Given the description of an element on the screen output the (x, y) to click on. 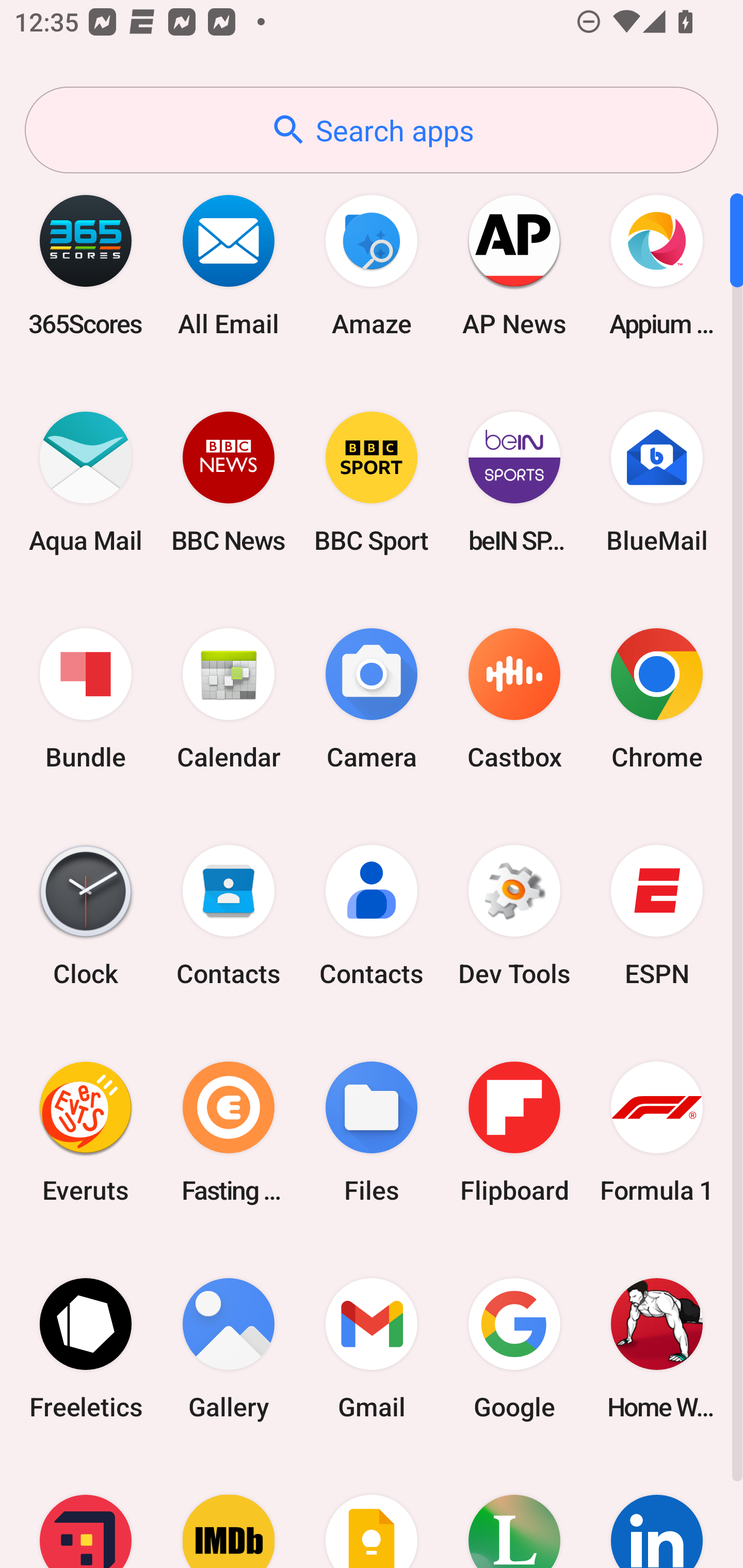
  Search apps (371, 130)
365Scores (85, 264)
All Email (228, 264)
Amaze (371, 264)
AP News (514, 264)
Appium Settings (656, 264)
Aqua Mail (85, 482)
BBC News (228, 482)
BBC Sport (371, 482)
beIN SPORTS (514, 482)
BlueMail (656, 482)
Bundle (85, 699)
Calendar (228, 699)
Camera (371, 699)
Castbox (514, 699)
Chrome (656, 699)
Clock (85, 915)
Contacts (228, 915)
Contacts (371, 915)
Dev Tools (514, 915)
ESPN (656, 915)
Everuts (85, 1131)
Fasting Coach (228, 1131)
Files (371, 1131)
Flipboard (514, 1131)
Formula 1 (656, 1131)
Freeletics (85, 1348)
Gallery (228, 1348)
Gmail (371, 1348)
Google (514, 1348)
Home Workout (656, 1348)
Hotels.com (85, 1512)
IMDb (228, 1512)
Keep Notes (371, 1512)
Lifesum (514, 1512)
LinkedIn (656, 1512)
